Given the description of an element on the screen output the (x, y) to click on. 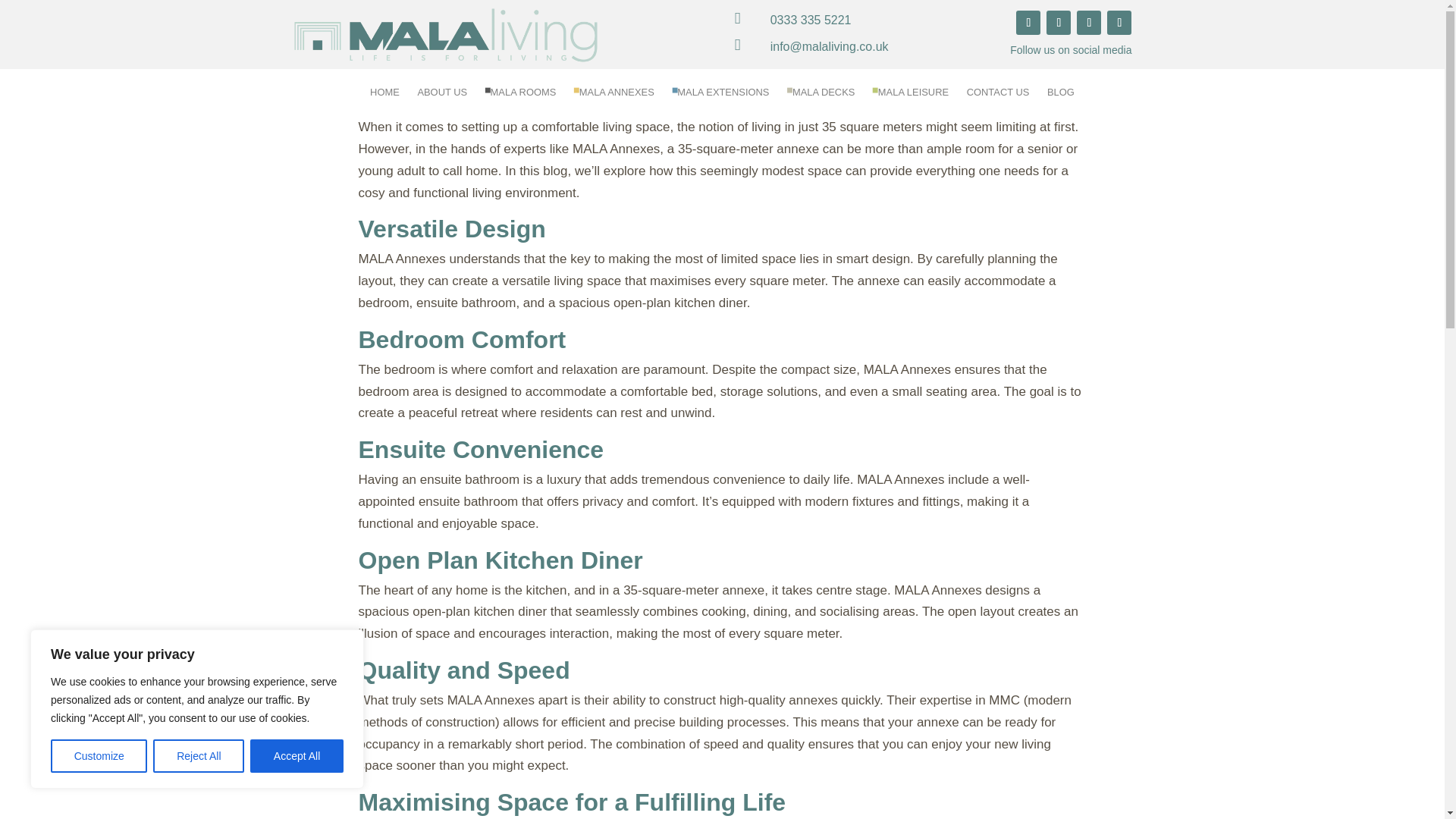
Customize (98, 756)
MALA ANNEXES (619, 95)
HOME (386, 95)
BLOG (1062, 95)
Follow on LinkedIn (1028, 22)
MALA EXTENSIONS (727, 95)
MALA LIVING BOLD STRAP Li4L TP copy (426, 33)
ABOUT US (445, 95)
Follow on Instagram (1088, 22)
Accept All (296, 756)
0333 335 5221 (810, 19)
Reject All (198, 756)
CONTACT US (1002, 95)
MALA DECKS (826, 95)
MALA LEISURE (916, 95)
